Given the description of an element on the screen output the (x, y) to click on. 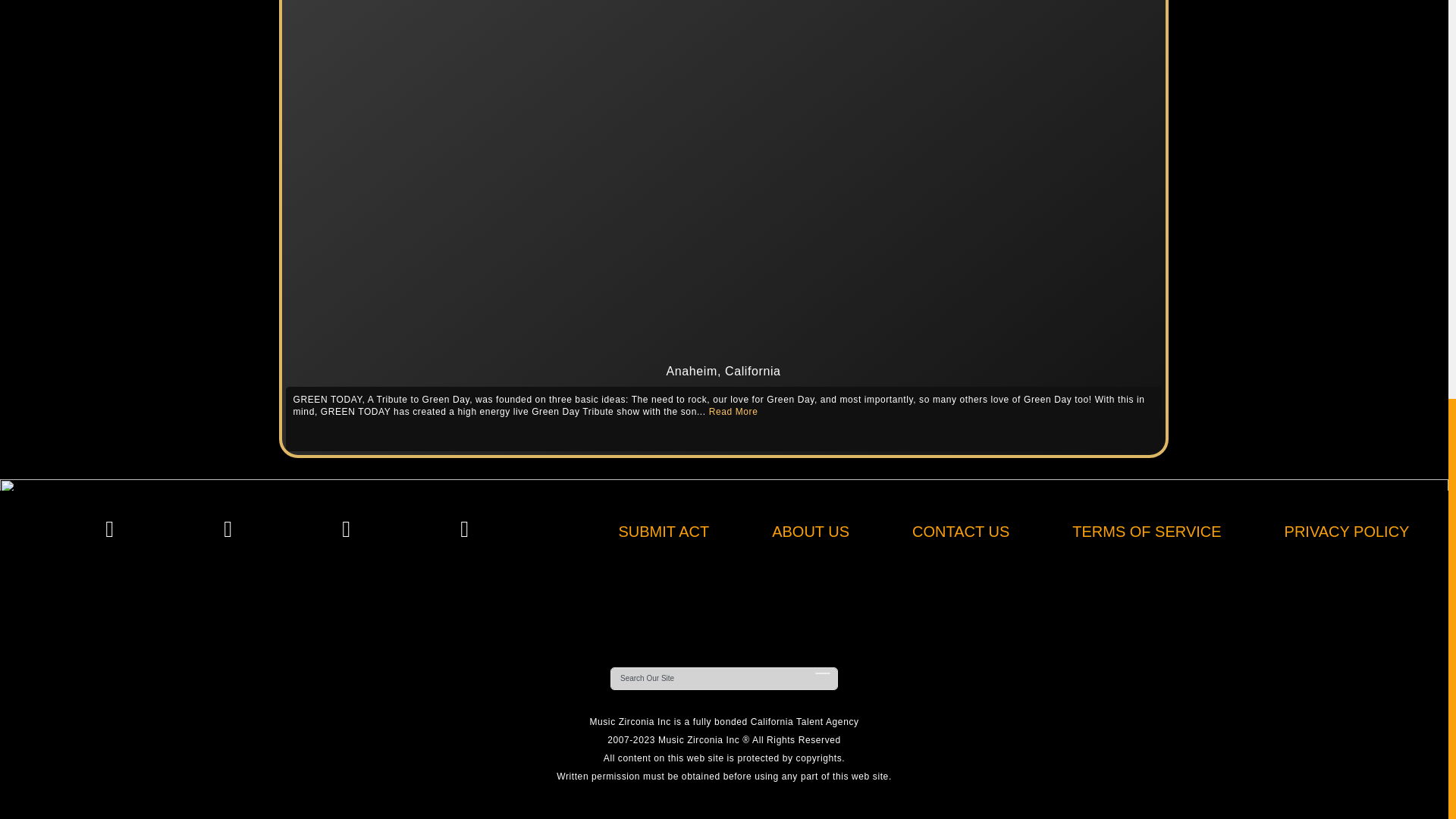
CONTACT US (960, 531)
Read More (733, 411)
TERMS OF SERVICE (1146, 531)
ABOUT US (809, 531)
PRIVACY POLICY (1346, 531)
SUBMIT ACT (664, 531)
